Given the description of an element on the screen output the (x, y) to click on. 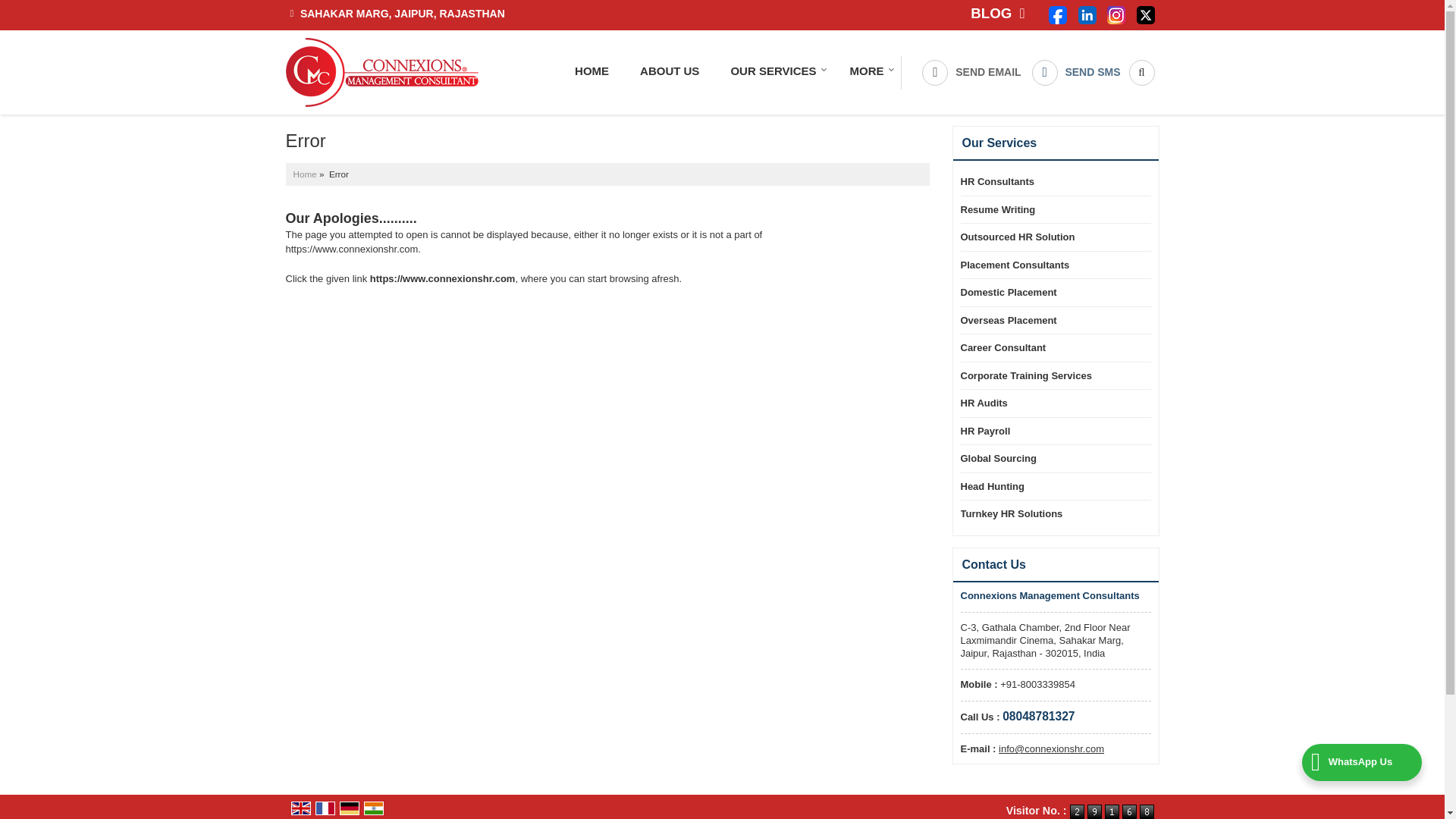
Facebook (1057, 13)
Home (591, 71)
Linked IN (1087, 13)
SEND SMS (1075, 72)
Our Services (773, 71)
BLOG (997, 13)
OUR SERVICES (773, 71)
SEND EMAIL (971, 72)
Connexions Management Consultants (381, 72)
Instagram (1115, 13)
MORE (867, 71)
ABOUT US (669, 71)
HOME (591, 71)
Twitter (1144, 13)
About Us (669, 71)
